Given the description of an element on the screen output the (x, y) to click on. 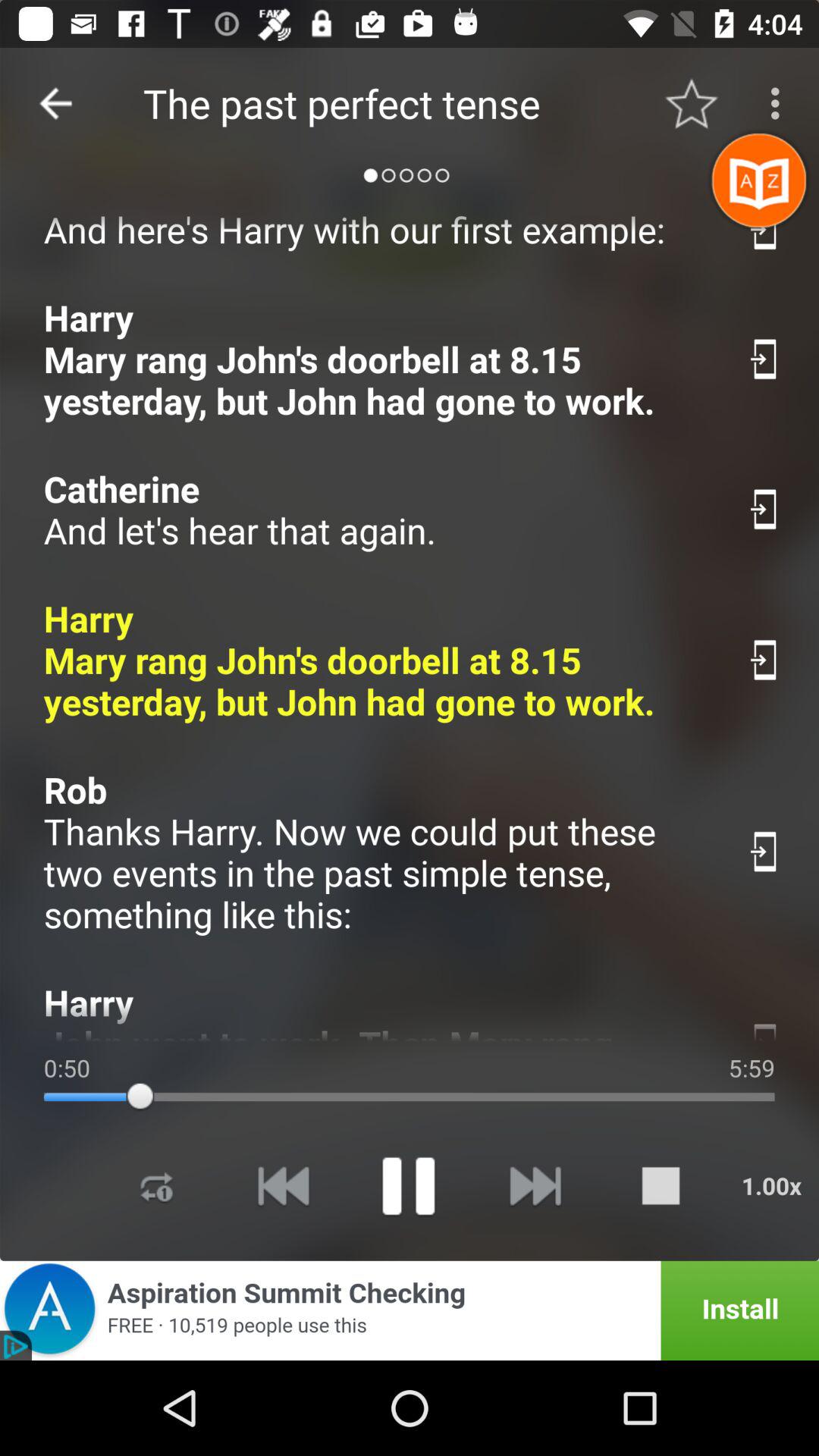
go to the page of an advertisement (409, 1310)
